Given the description of an element on the screen output the (x, y) to click on. 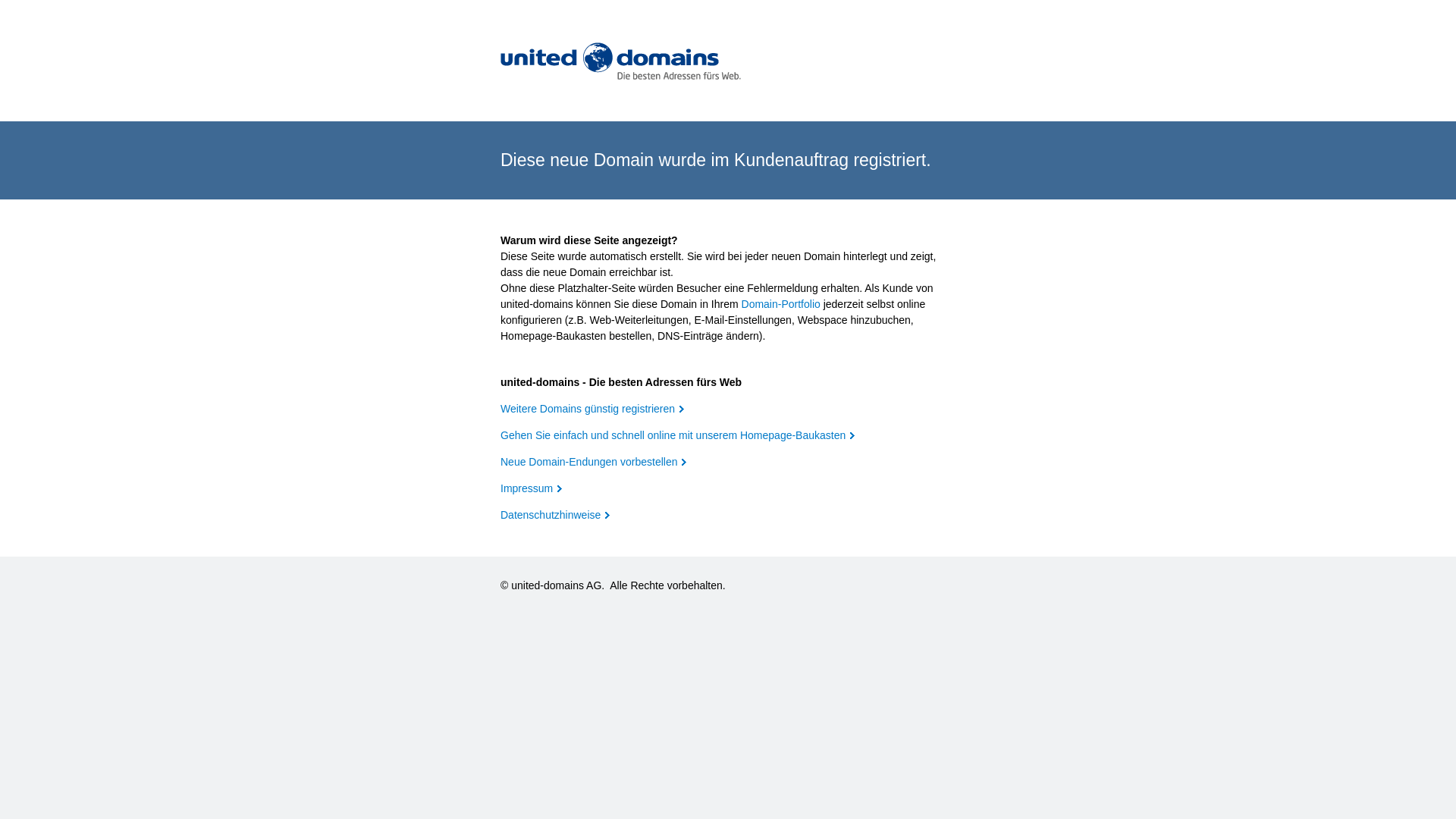
Neue Domain-Endungen vorbestellen Element type: text (593, 461)
Impressum Element type: text (530, 488)
Datenschutzhinweise Element type: text (554, 514)
Domain-Portfolio Element type: text (780, 304)
